Given the description of an element on the screen output the (x, y) to click on. 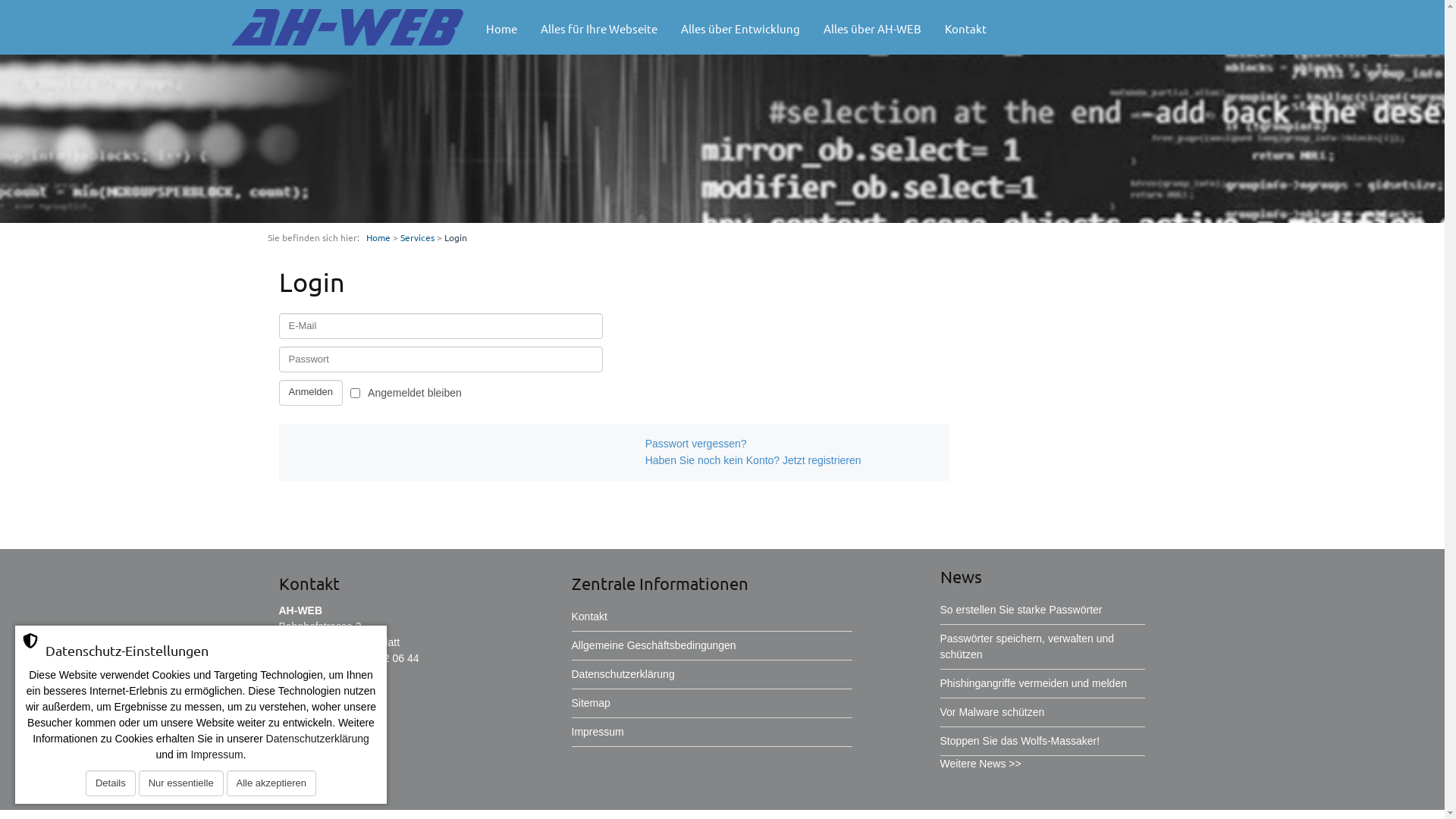
Phishingangriffe vermeiden und melden Element type: text (1033, 683)
Weitere News >> Element type: text (980, 763)
Kontakt Element type: text (589, 616)
Nur essentielle Element type: text (180, 783)
info@ah-web.ch Element type: text (335, 674)
Anmelden Element type: text (311, 392)
Home Element type: text (377, 237)
Stoppen Sie das Wolfs-Massaker! Element type: text (1020, 740)
Alle akzeptieren Element type: text (271, 783)
Sitemap Element type: text (590, 702)
Haben Sie noch kein Konto? Jetzt registrieren Element type: text (791, 459)
Impressum Element type: text (597, 731)
ah-web.ch Element type: text (321, 690)
Kontakt Element type: text (965, 29)
Services Element type: text (417, 237)
Impressum Element type: text (216, 754)
Details Element type: text (110, 783)
Home Element type: text (501, 29)
Passwort vergessen? Element type: text (791, 443)
